Given the description of an element on the screen output the (x, y) to click on. 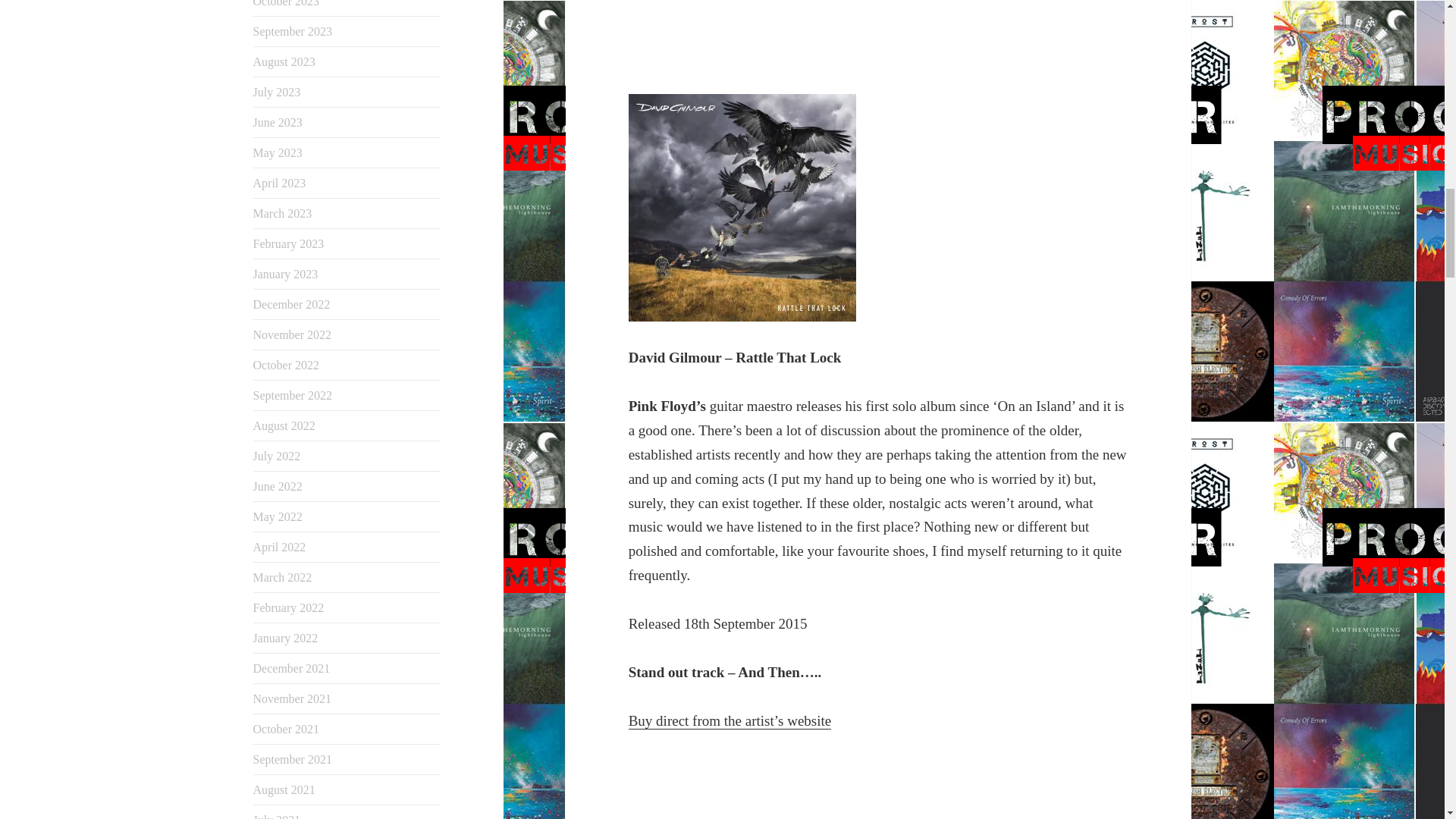
January 2023 (285, 273)
September 2023 (292, 31)
February 2023 (288, 243)
October 2022 (286, 364)
November 2022 (292, 334)
May 2023 (277, 152)
September 2022 (292, 395)
June 2023 (277, 122)
December 2022 (291, 304)
August 2023 (284, 61)
March 2023 (283, 213)
April 2023 (279, 182)
October 2023 (286, 3)
July 2023 (277, 91)
